Given the description of an element on the screen output the (x, y) to click on. 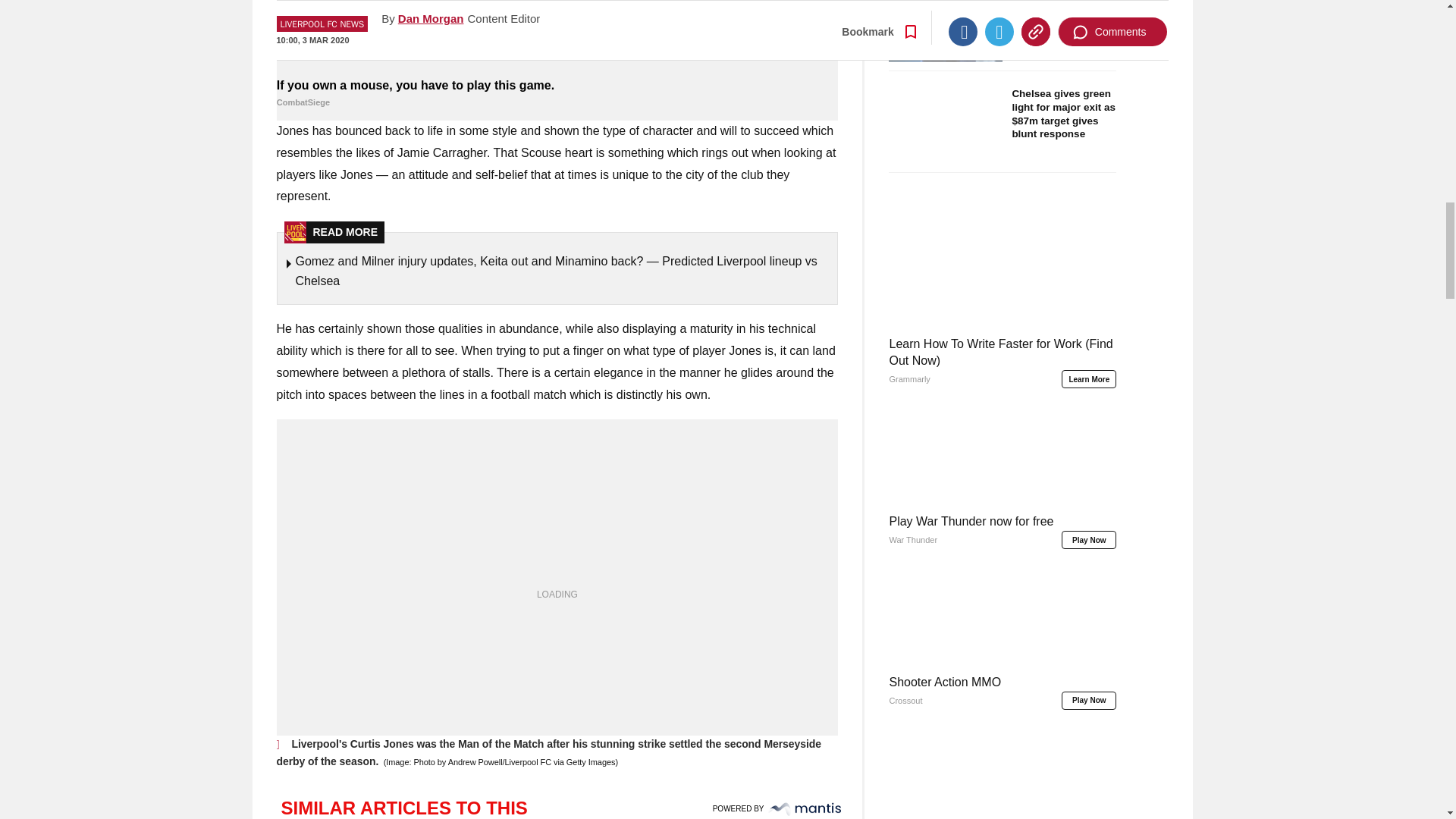
If you own a mouse, you have to play this game. (557, 36)
